Given the description of an element on the screen output the (x, y) to click on. 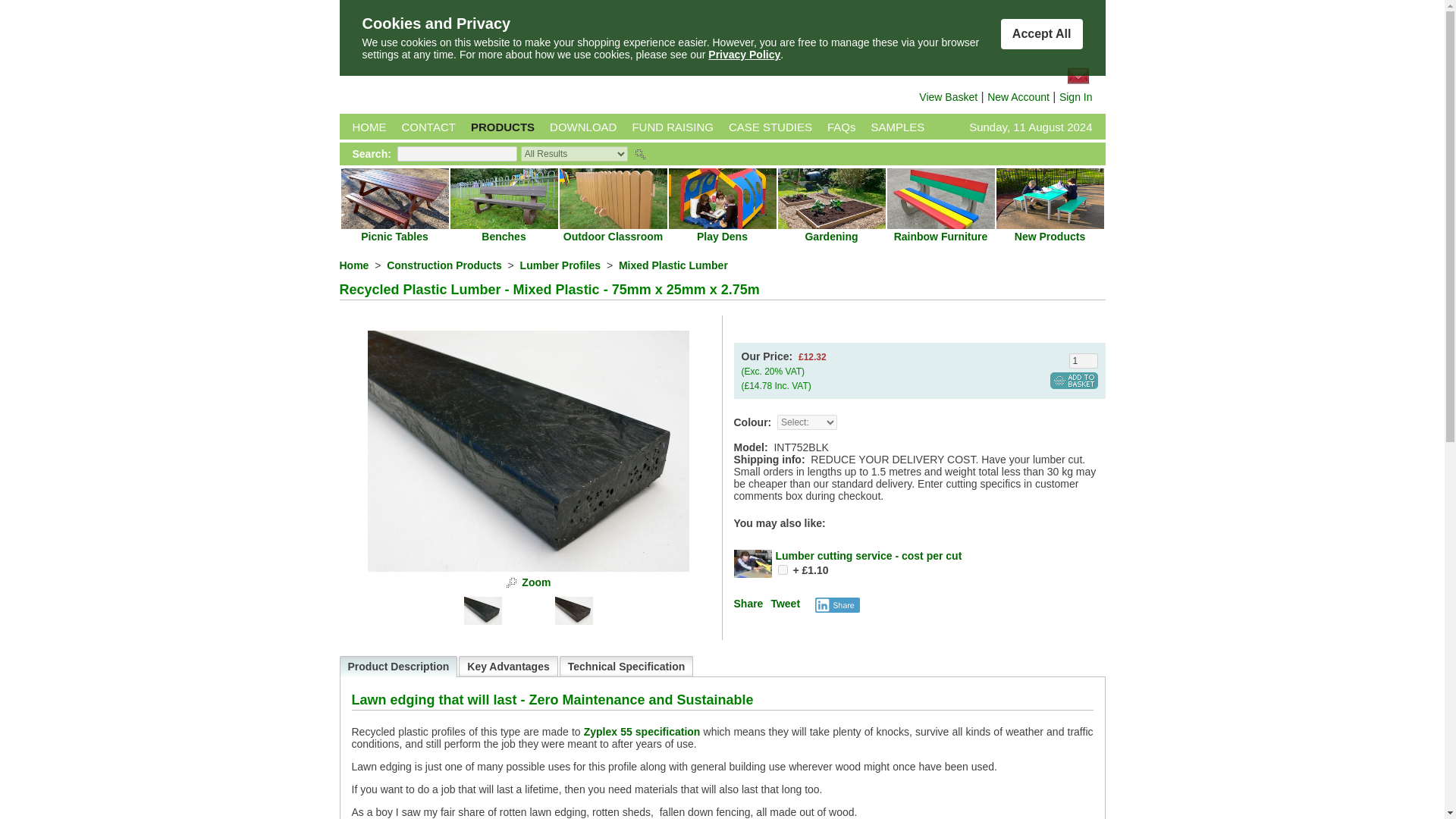
Mixed Plastic Lumber (673, 265)
Rainbow Furniture (940, 236)
Product Description (398, 666)
Benches (503, 236)
Zoom (535, 582)
Tweet (784, 603)
Share (747, 603)
1 (1082, 360)
